Given the description of an element on the screen output the (x, y) to click on. 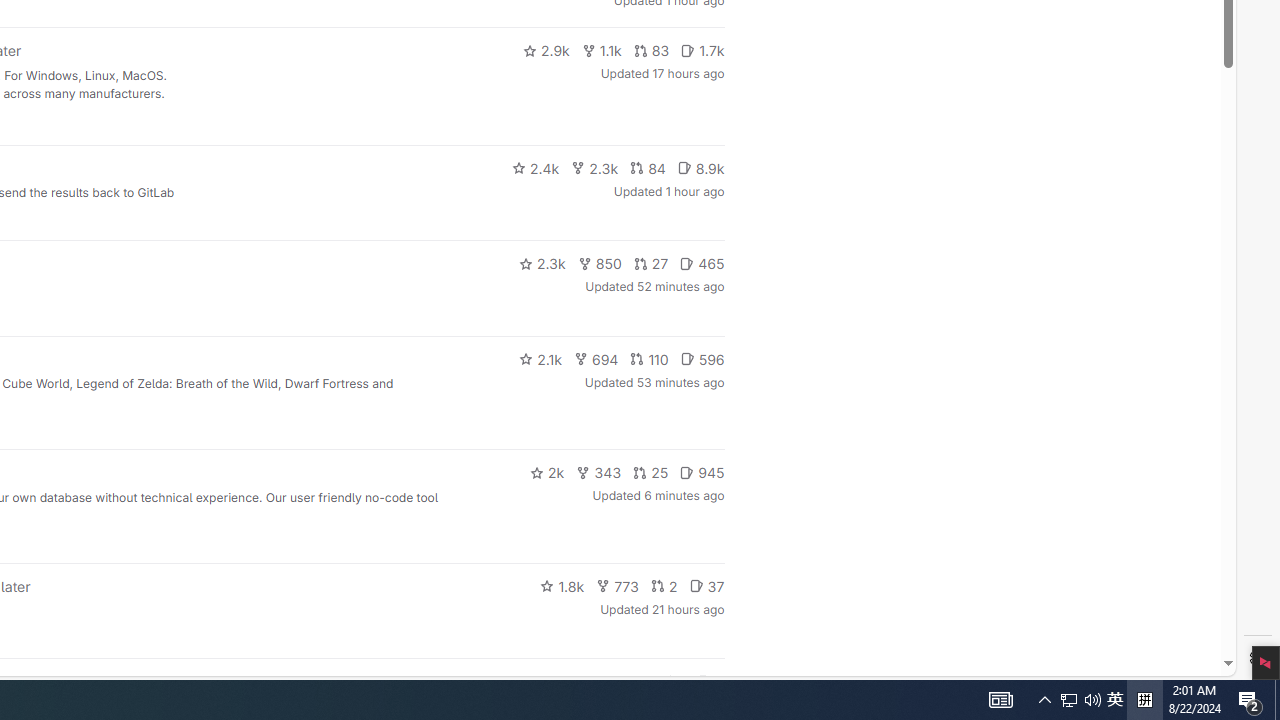
773 (618, 585)
37 (706, 585)
27 (651, 263)
Class: s14 gl-mr-2 (704, 681)
83 (651, 50)
850 (599, 263)
343 (599, 472)
1.8k (562, 585)
2.1k (539, 358)
2.9k (545, 50)
8.9k (700, 167)
6 (710, 681)
465 (701, 263)
2.3k (541, 263)
